Given the description of an element on the screen output the (x, y) to click on. 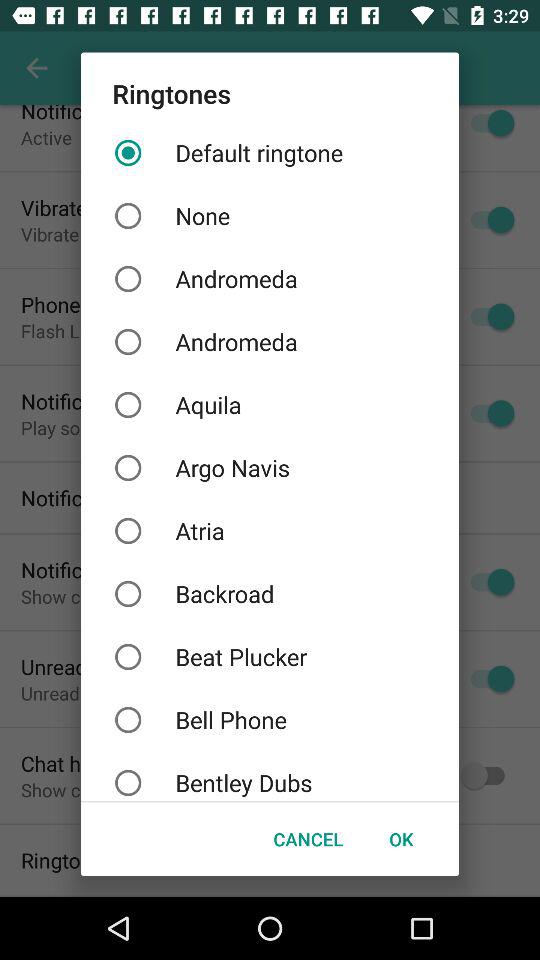
select icon to the left of the ok item (308, 838)
